Given the description of an element on the screen output the (x, y) to click on. 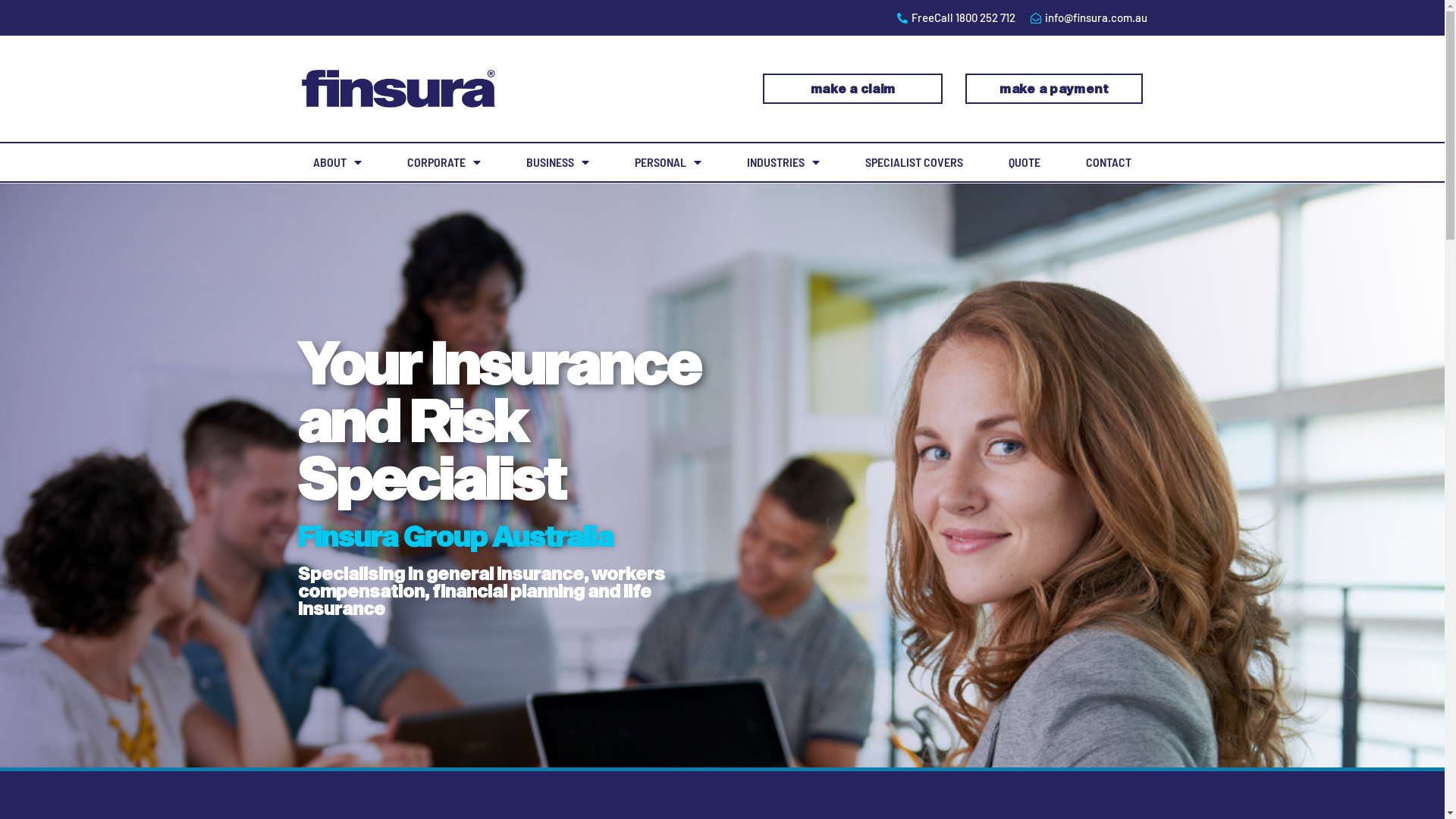
BUSINESS Element type: text (557, 162)
PERSONAL Element type: text (667, 162)
make a claim Element type: text (852, 88)
INDUSTRIES Element type: text (783, 162)
FreeCall 1800 252 712 Element type: text (955, 17)
make a payment Element type: text (1053, 88)
SPECIALIST COVERS Element type: text (913, 162)
CONTACT Element type: text (1108, 162)
QUOTE Element type: text (1024, 162)
info@finsura.com.au Element type: text (1087, 17)
ABOUT Element type: text (336, 162)
CORPORATE Element type: text (443, 162)
